Given the description of an element on the screen output the (x, y) to click on. 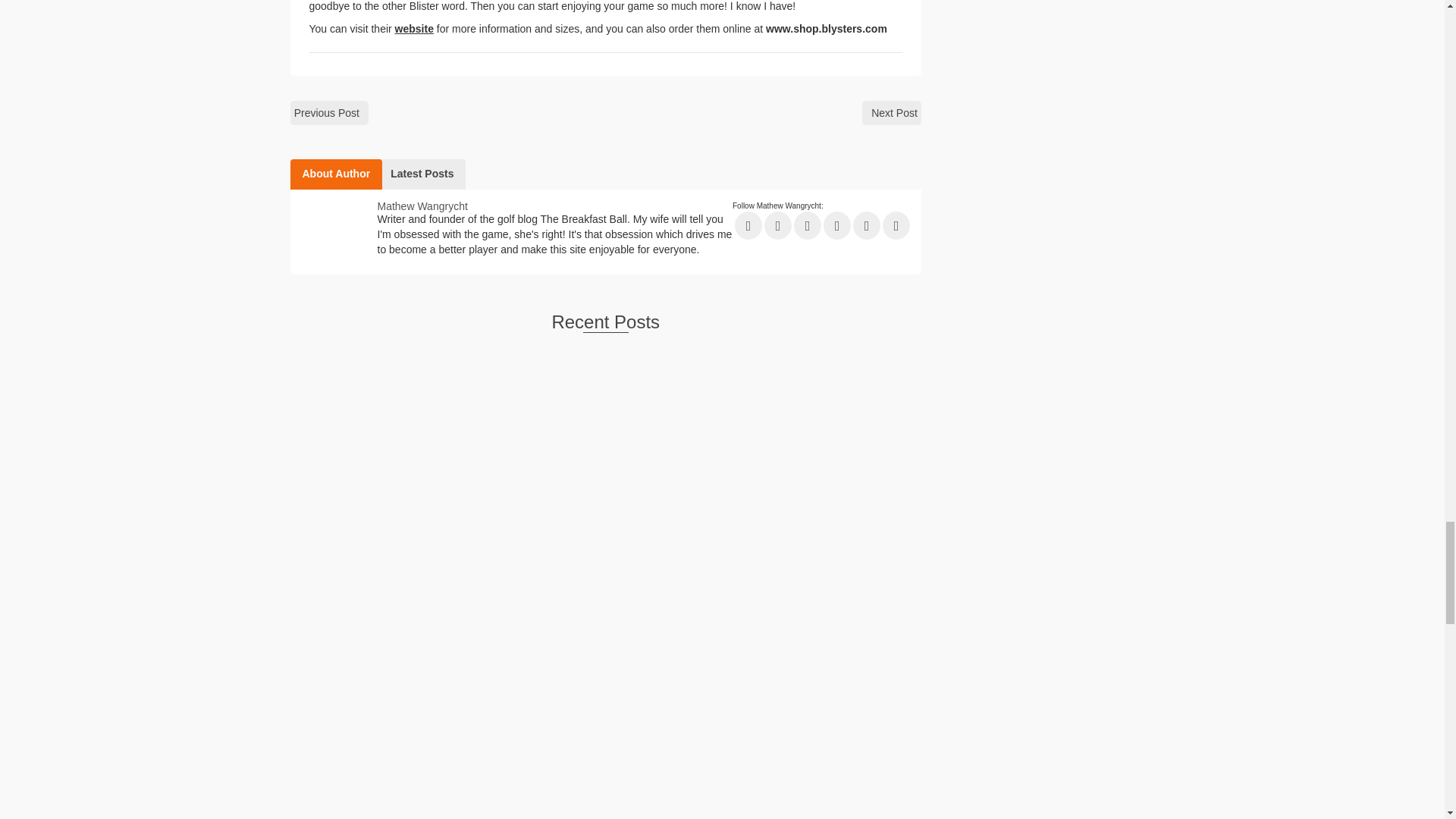
Follow  Mathew Wangrycht on Facebook (748, 225)
Follow  Mathew Wangrycht on Instagram (896, 225)
Posts by Mathew Wangrycht (422, 205)
Follow  Mathew Wangrycht on linkedin (837, 225)
Follow  Mathew Wangrycht on Pinterest (866, 225)
Follow  Mathew Wangrycht on Google Plus (807, 225)
Follow  Mathew Wangrycht on X formerly Twitter (778, 225)
